Given the description of an element on the screen output the (x, y) to click on. 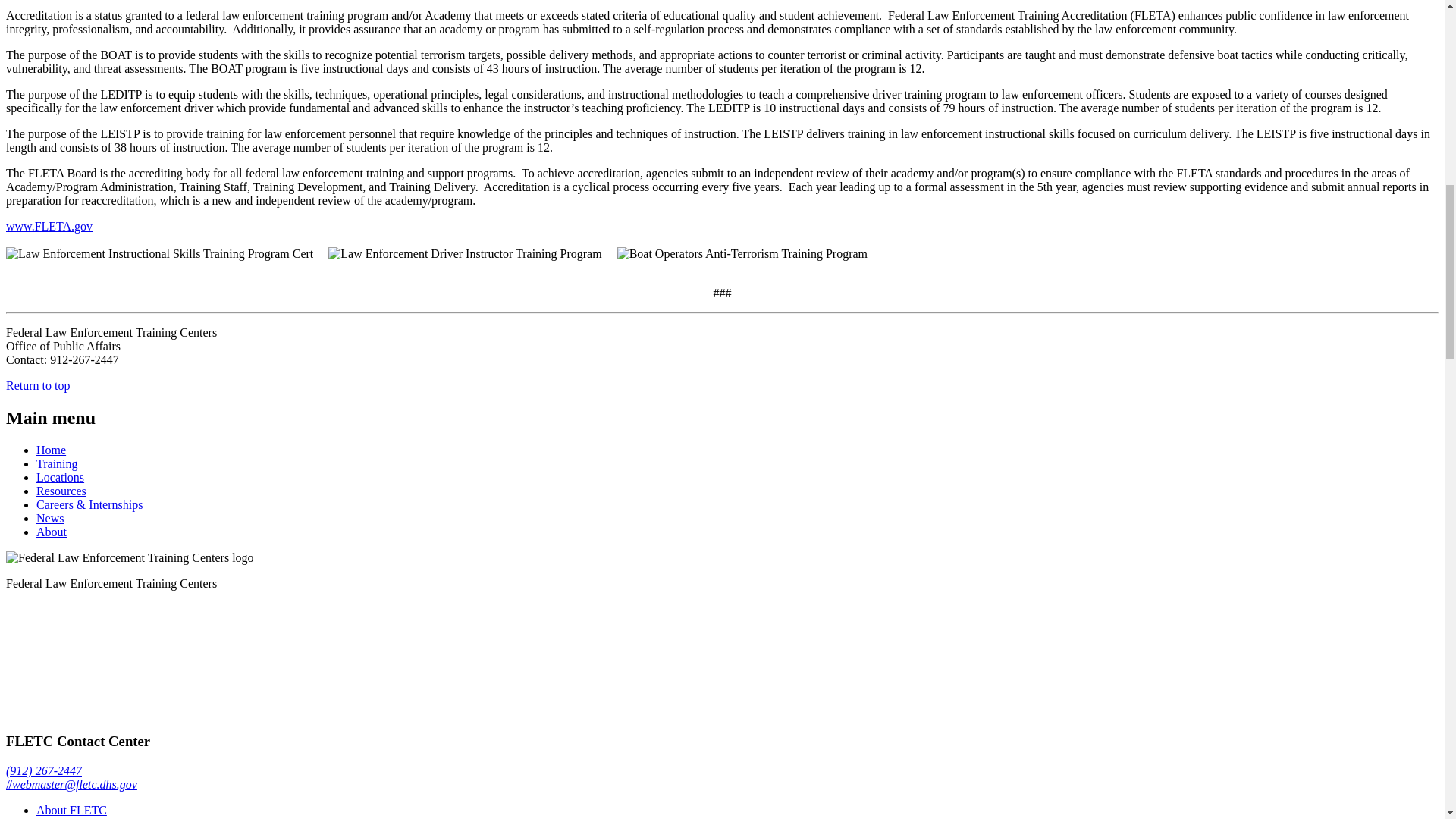
About (51, 531)
View FLETC Resources (60, 490)
Accessibility Statement (68, 818)
Training (57, 463)
www.FLETA.gov (49, 226)
Resources (60, 490)
Return to top (37, 385)
Go to X (118, 712)
Home (50, 449)
Locations (60, 477)
